Given the description of an element on the screen output the (x, y) to click on. 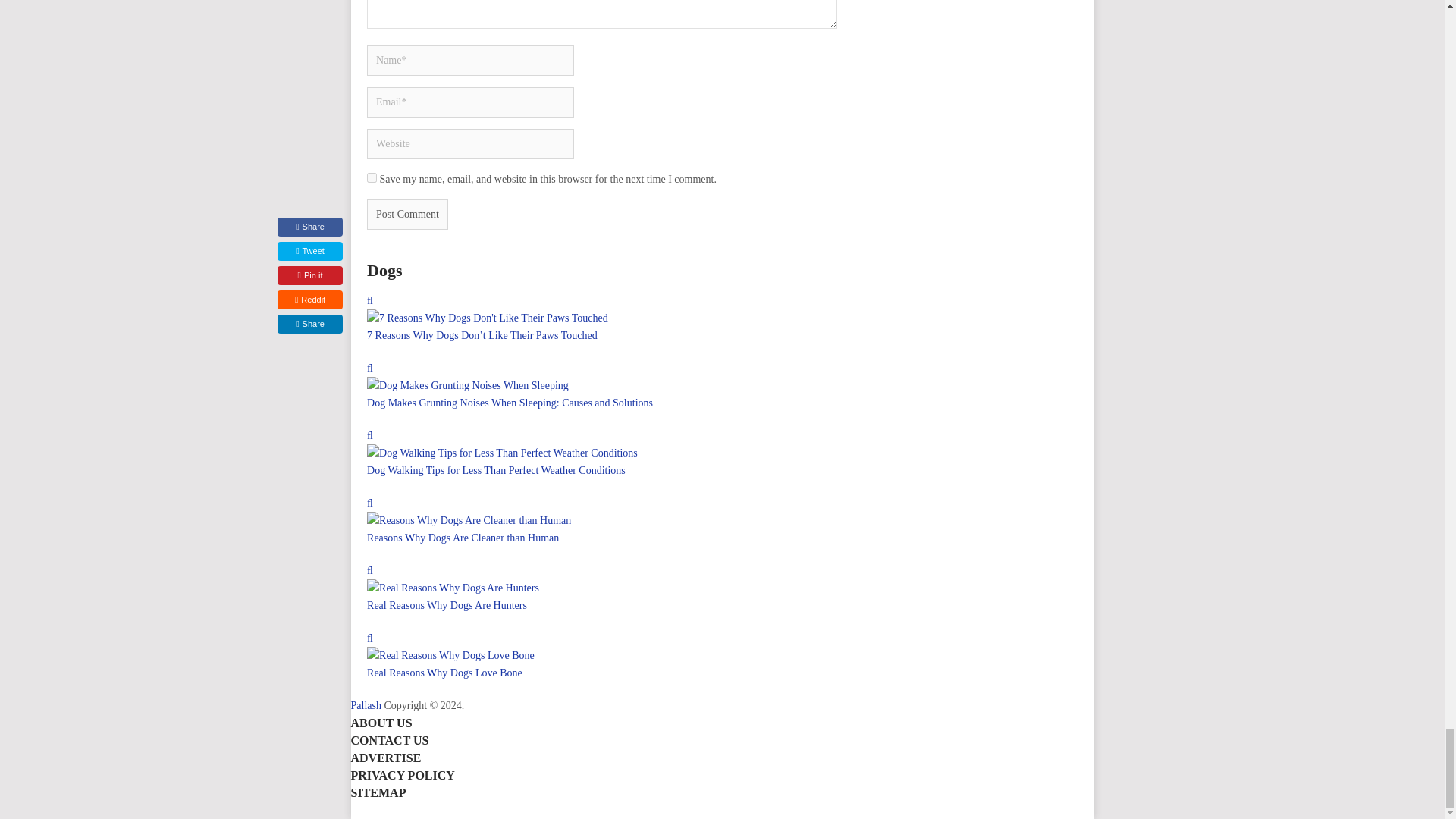
yes (371, 177)
Post Comment (407, 214)
